Given the description of an element on the screen output the (x, y) to click on. 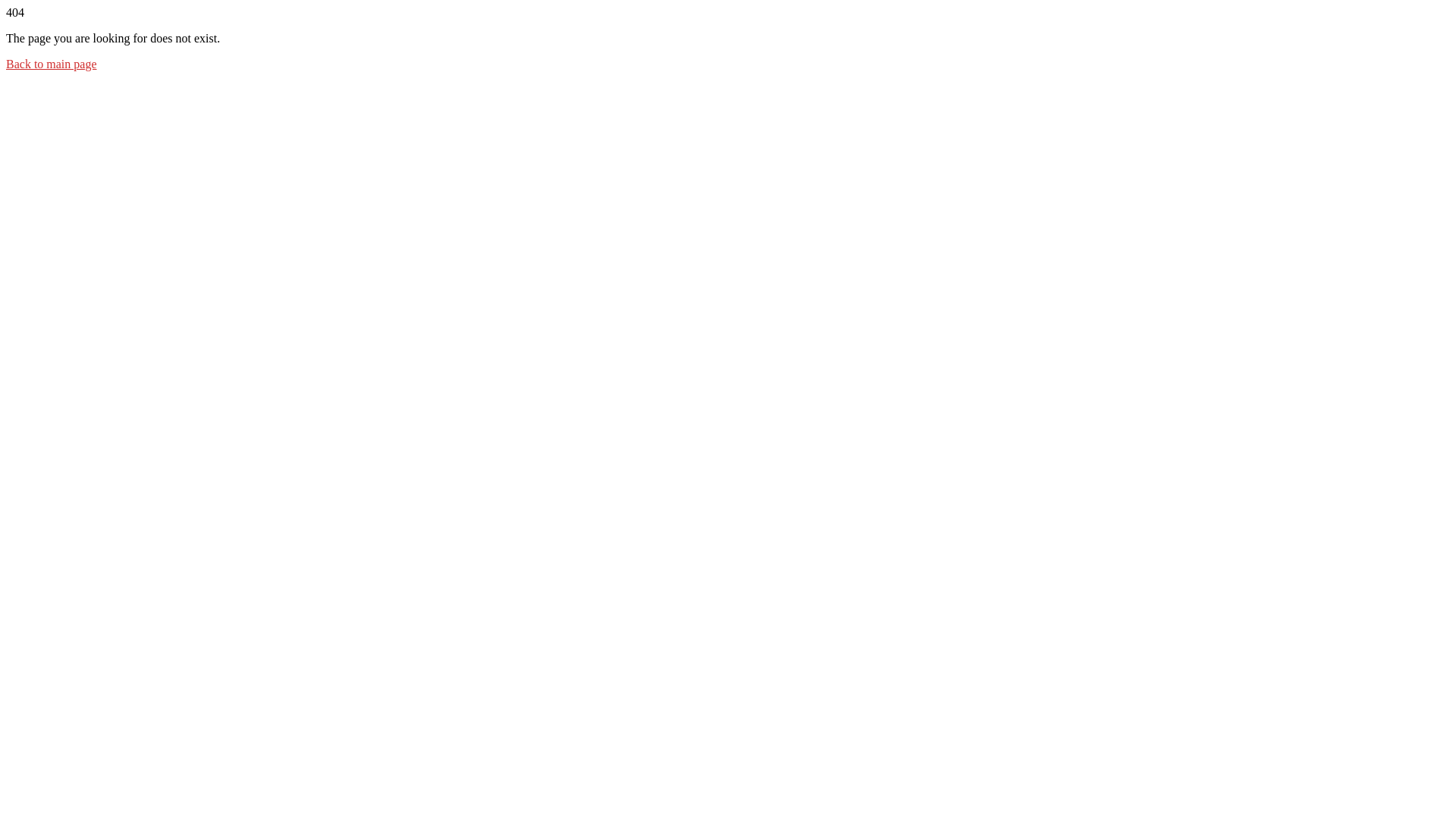
Back to main page Element type: text (51, 63)
